Given the description of an element on the screen output the (x, y) to click on. 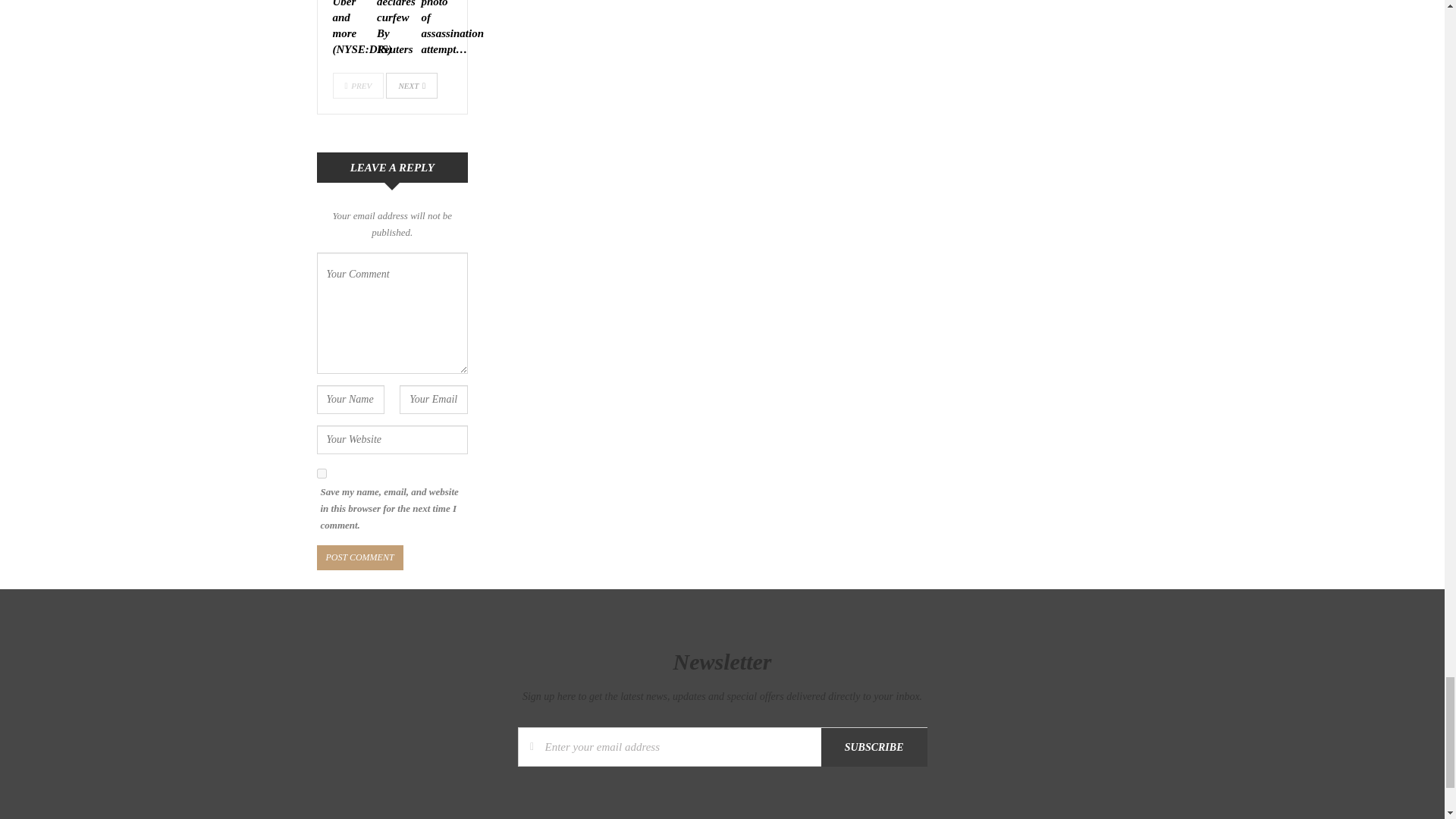
yes (321, 473)
Post Comment (360, 557)
